Given the description of an element on the screen output the (x, y) to click on. 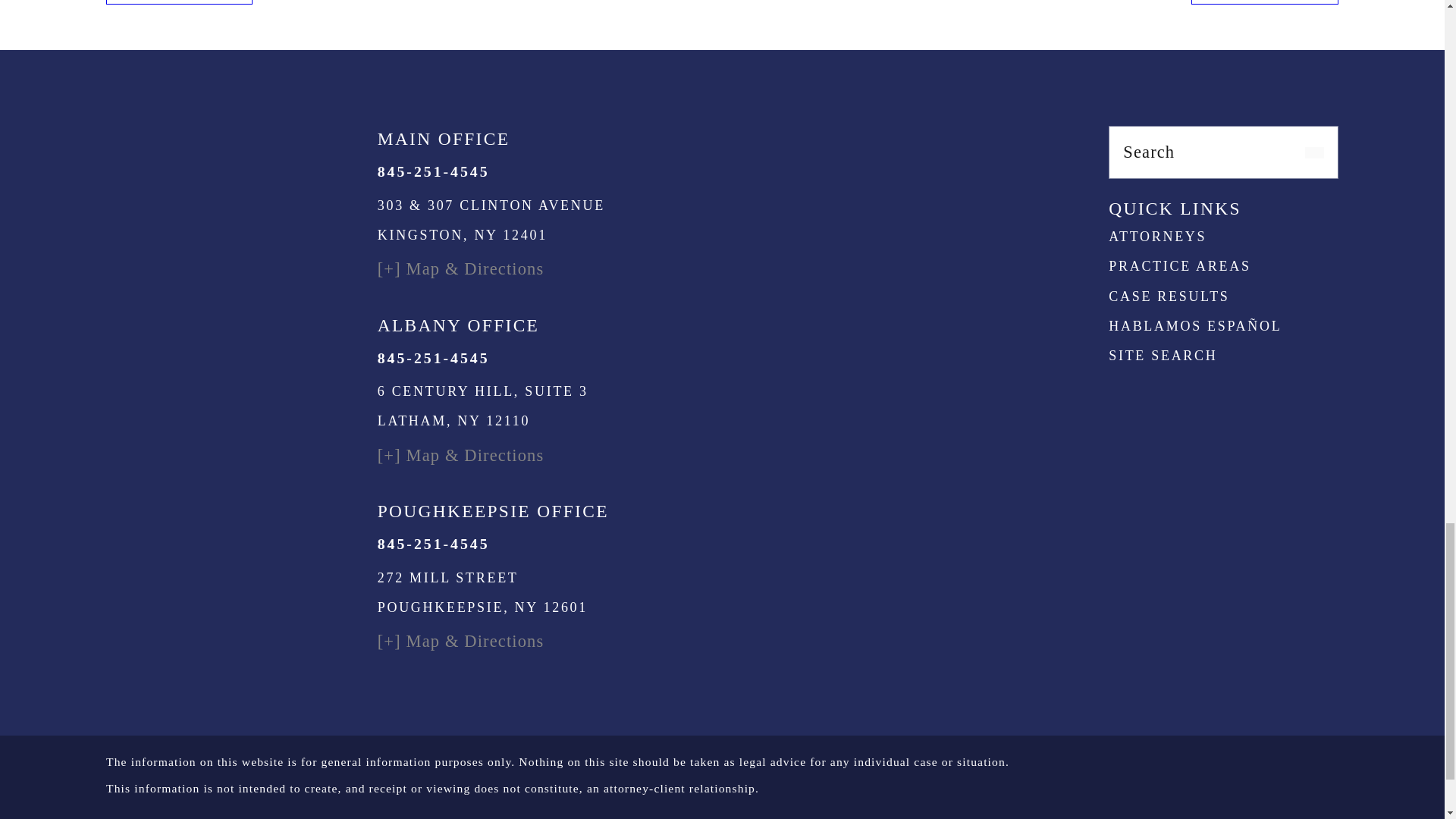
Twitter (1274, 186)
TikTok (1325, 186)
Search Icon (1313, 153)
Search Our Site (1313, 152)
LinkedIn (1223, 186)
Facebook (1121, 186)
Instagram (1172, 186)
